Given the description of an element on the screen output the (x, y) to click on. 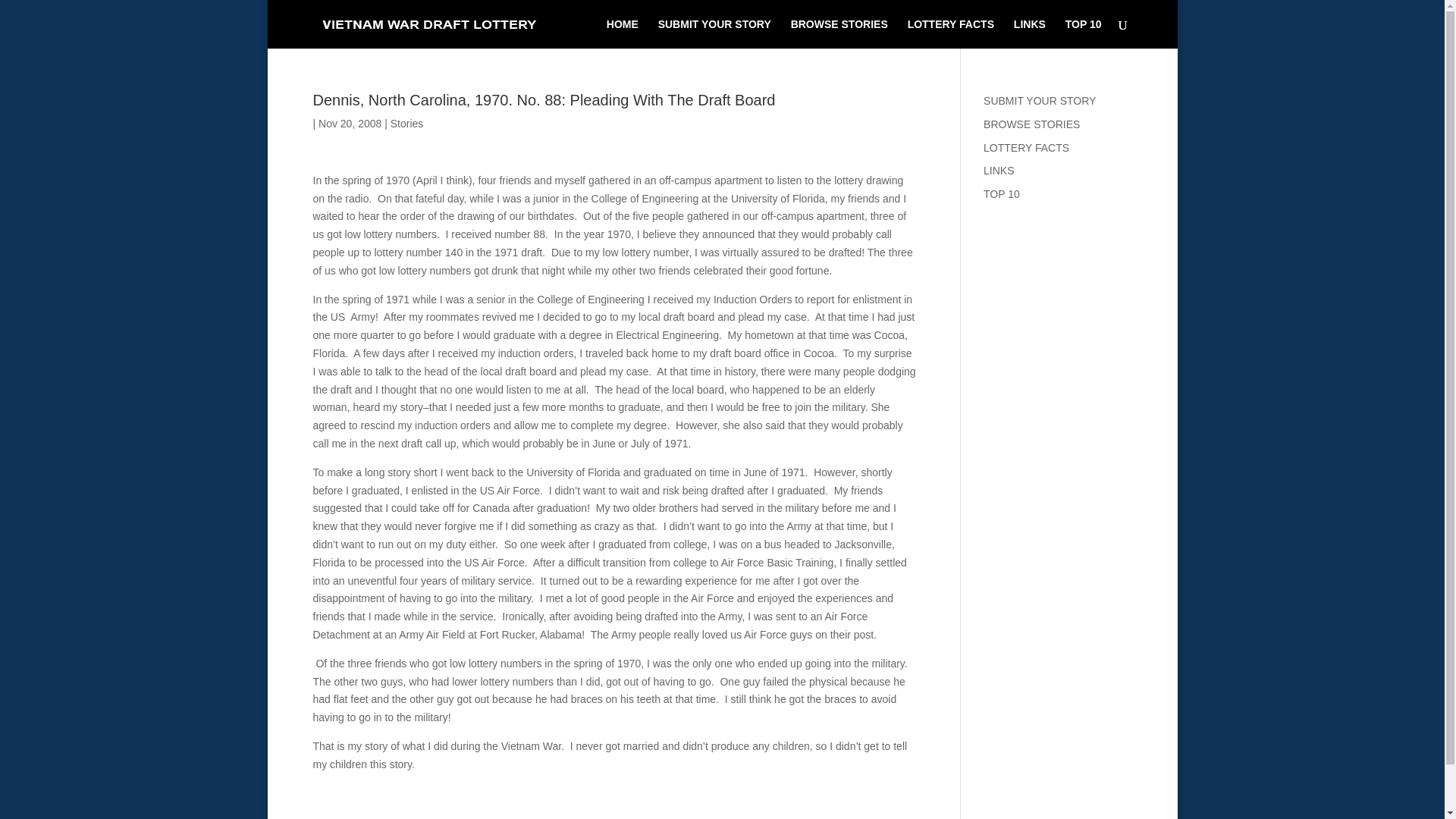
SUBMIT YOUR STORY (714, 33)
Stories (406, 123)
BROWSE STORIES (839, 33)
TOP 10 (1083, 33)
TOP 10 (1002, 193)
LINKS (1029, 33)
SUBMIT YOUR STORY (1040, 101)
LINKS (998, 170)
BROWSE STORIES (1032, 123)
HOME (623, 33)
